Given the description of an element on the screen output the (x, y) to click on. 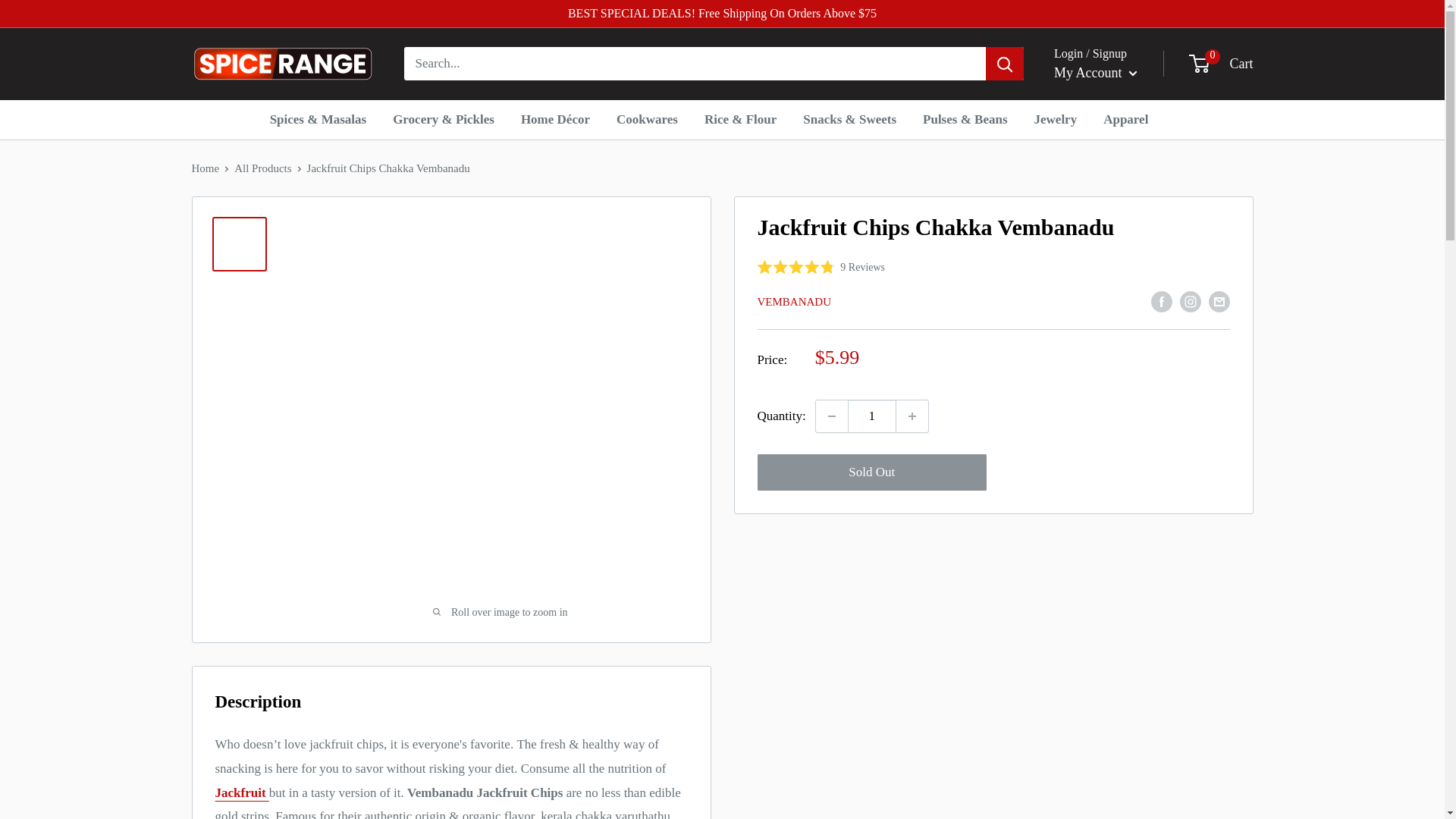
1 (871, 416)
Spice Range (281, 64)
Cookwares (1222, 63)
My Account (646, 119)
Decrease quantity by 1 (1095, 73)
Increase quantity by 1 (831, 416)
